Given the description of an element on the screen output the (x, y) to click on. 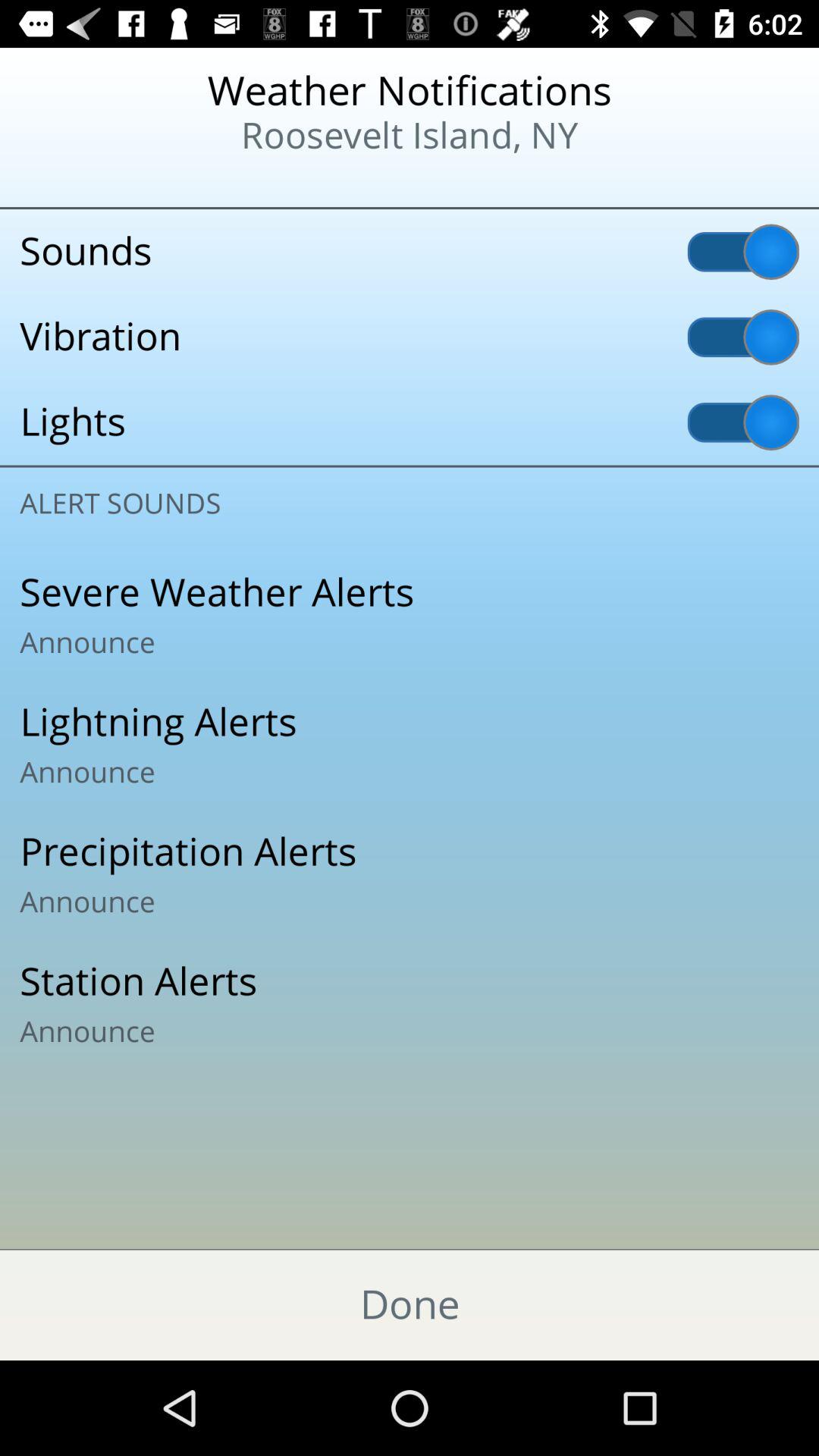
tap the item to the left of the roosevelt island, ny (99, 182)
